Given the description of an element on the screen output the (x, y) to click on. 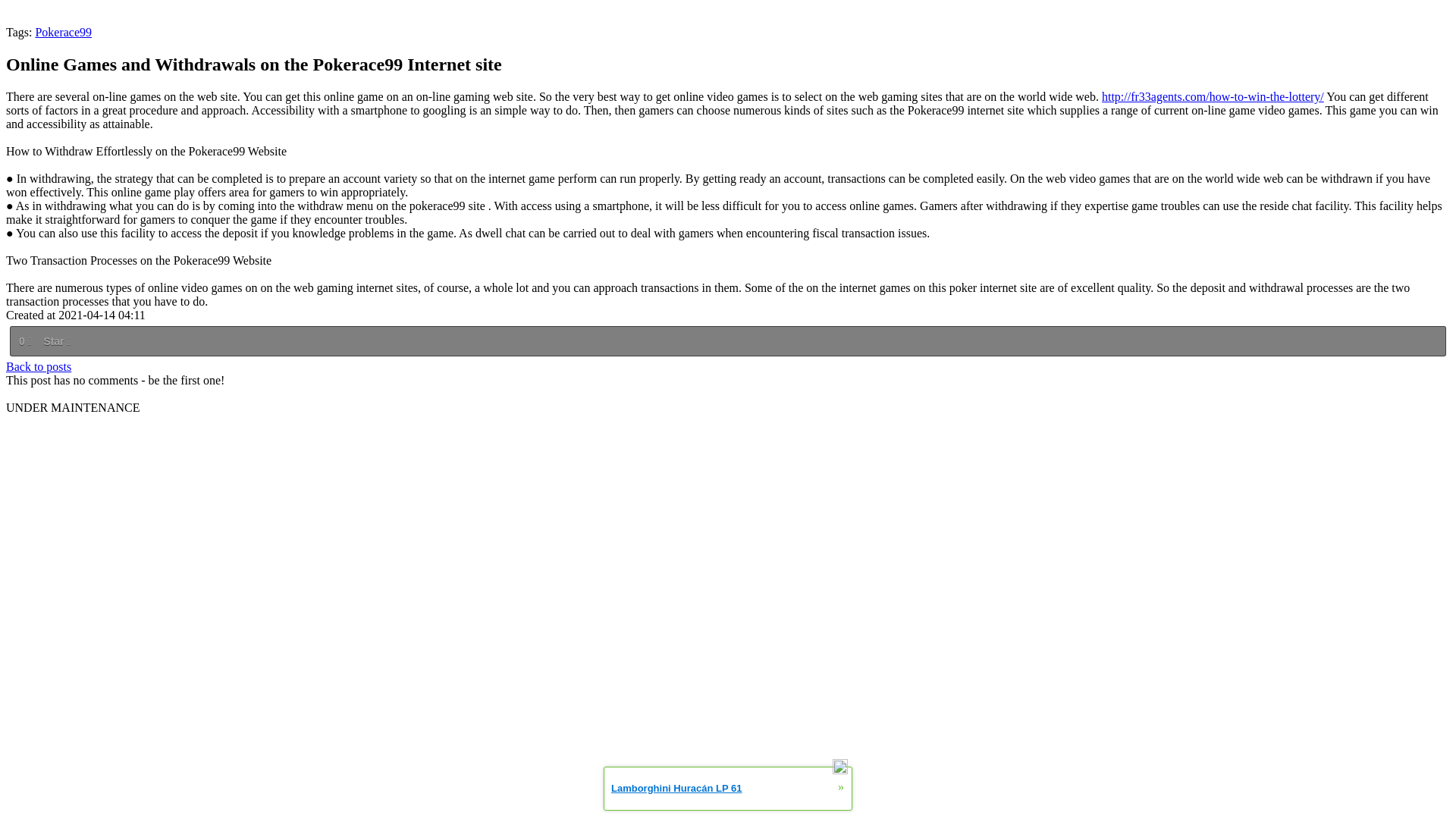
Star (56, 340)
Back to posts (38, 366)
0 (24, 340)
Pokerace99 (62, 31)
